Given the description of an element on the screen output the (x, y) to click on. 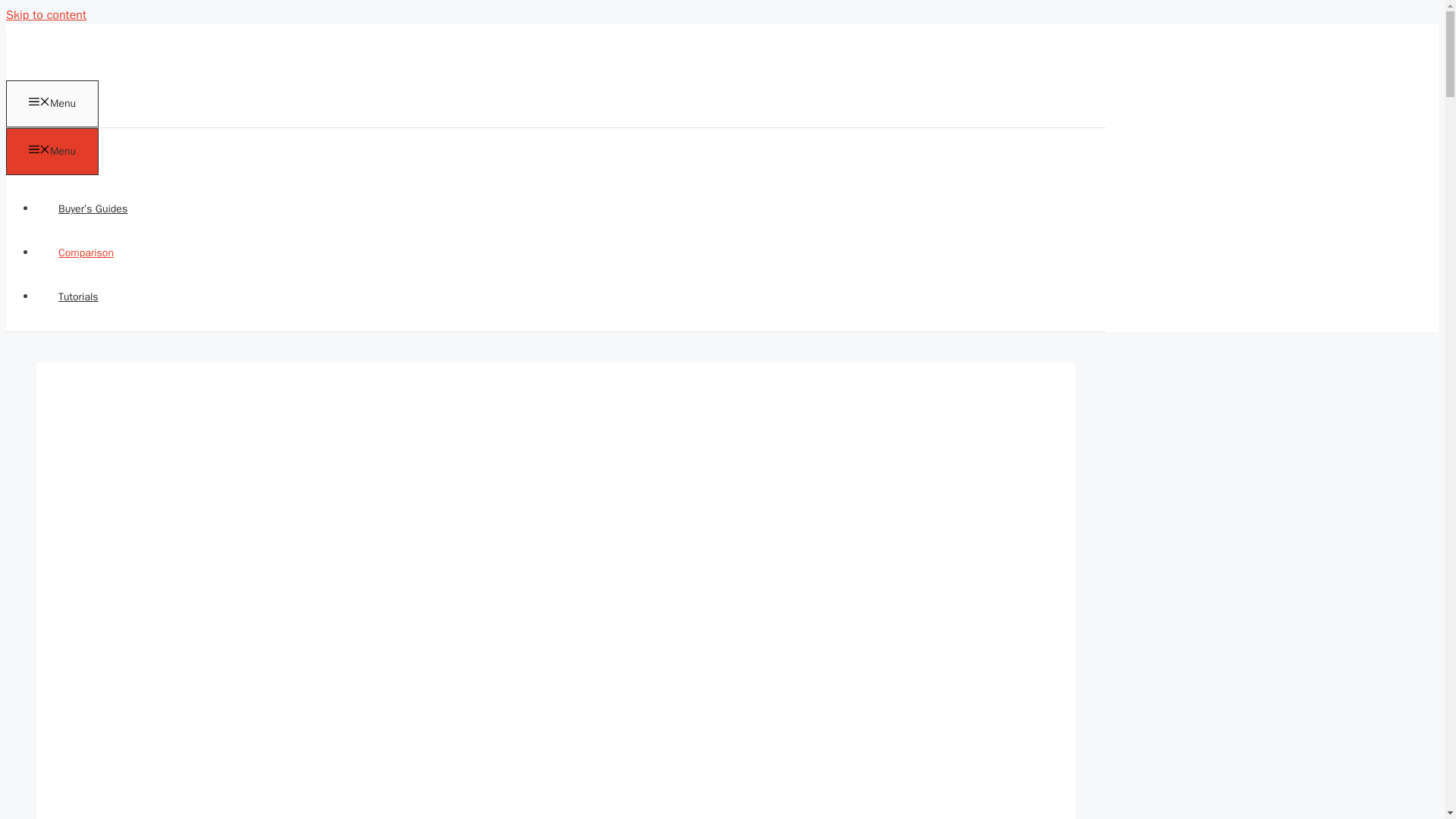
Seaway Valley Construction (73, 49)
Seaway Valley Construction (73, 70)
Comparison (85, 252)
Tutorials (78, 296)
Menu (52, 151)
Menu (52, 103)
Skip to content (45, 14)
Skip to content (45, 14)
